Given the description of an element on the screen output the (x, y) to click on. 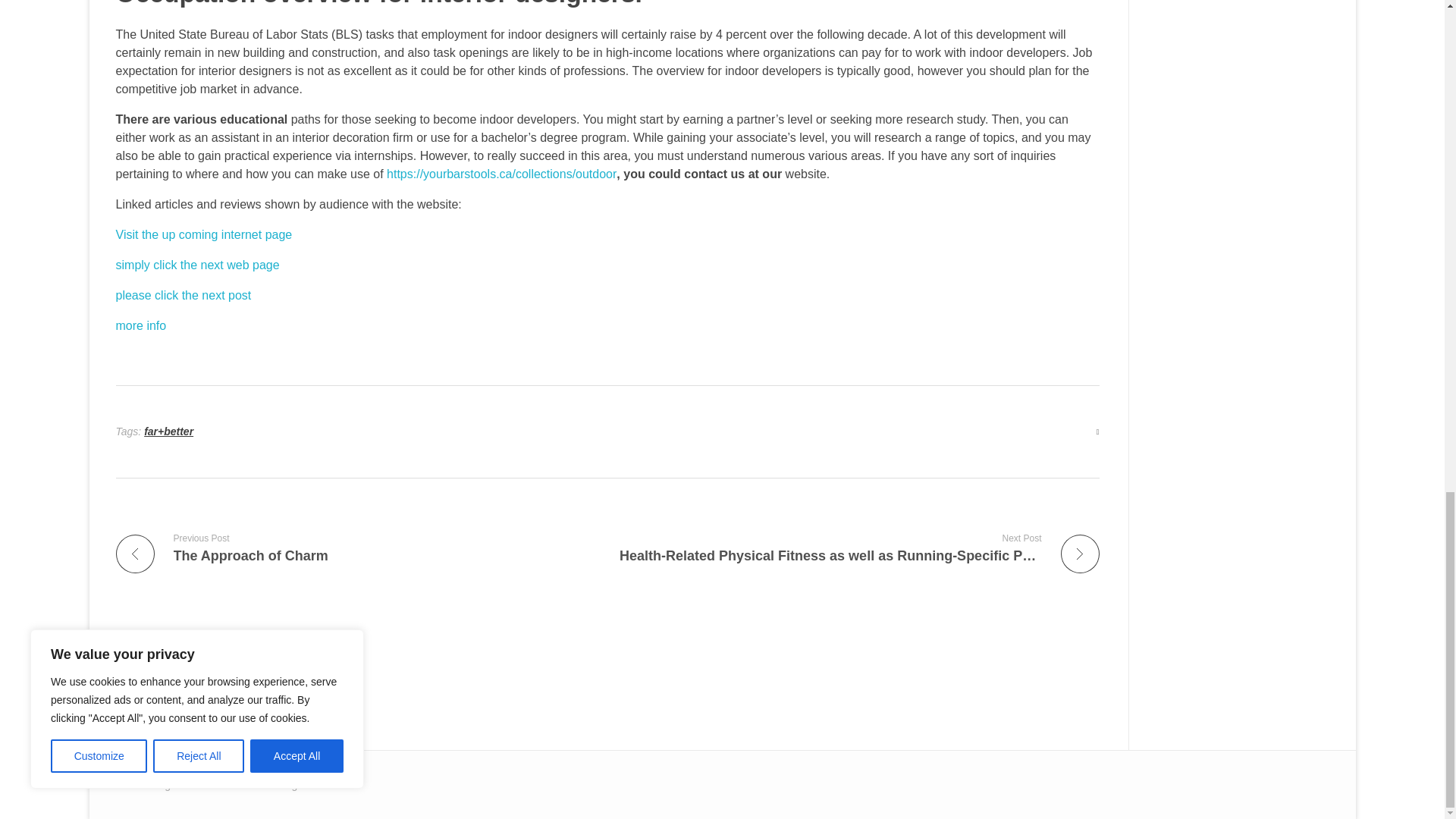
please click the next post (182, 295)
simply click the next web page (197, 264)
more info (140, 325)
Visit the up coming internet page (203, 234)
